Given the description of an element on the screen output the (x, y) to click on. 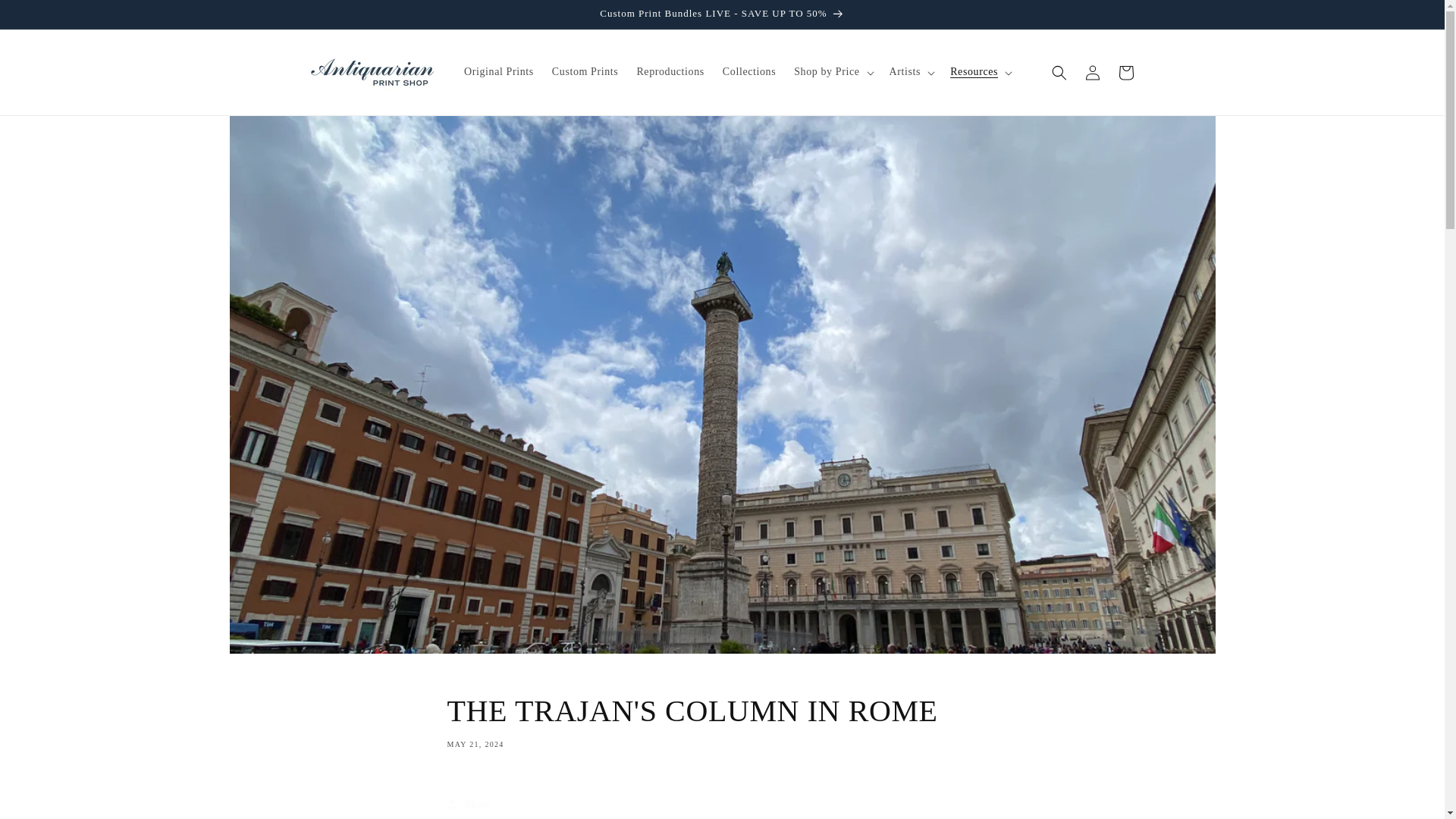
Skip to content (721, 720)
Share (45, 17)
